Given the description of an element on the screen output the (x, y) to click on. 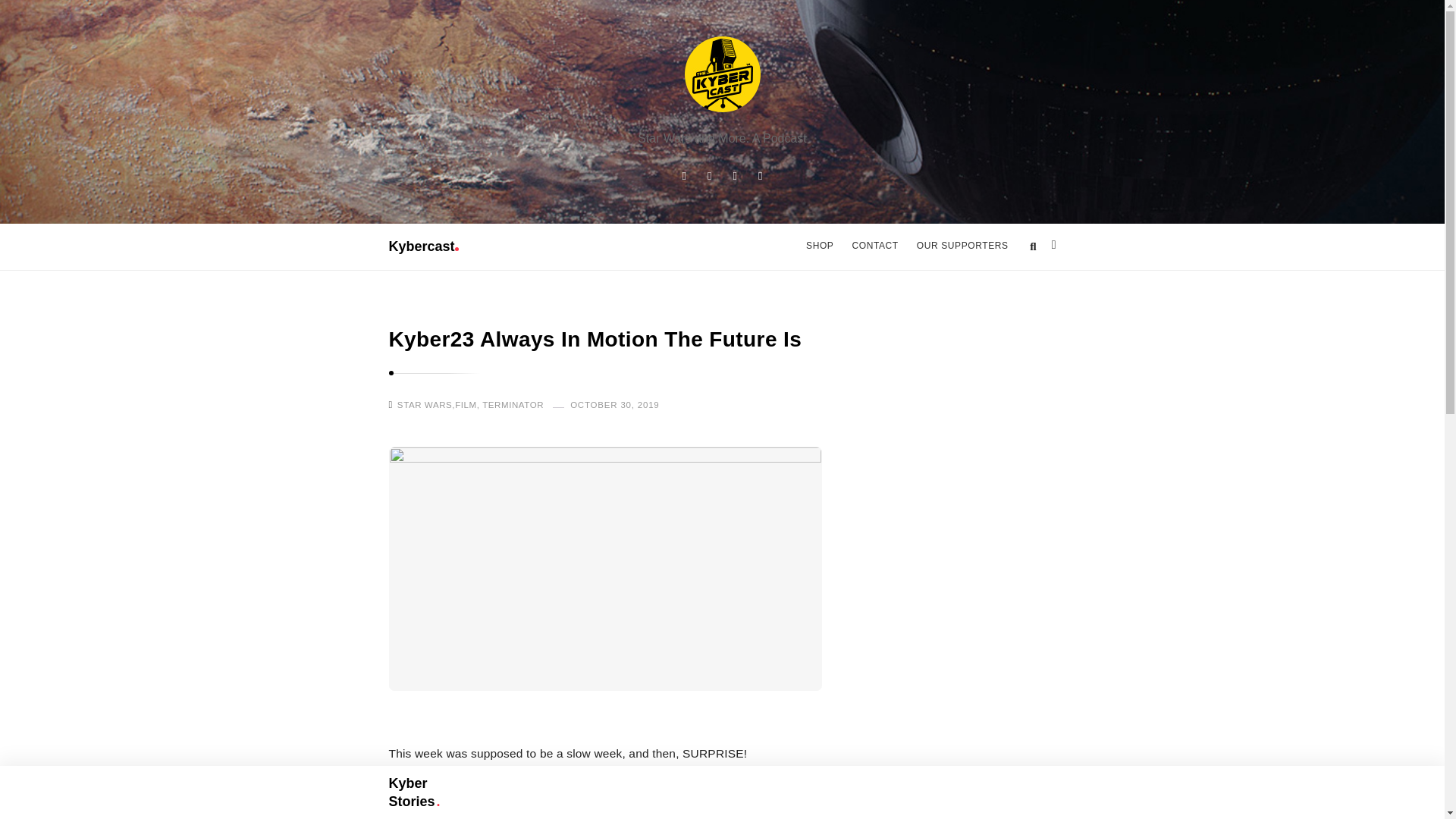
TERMINATOR (512, 405)
Search (32, 13)
STAR WARS (424, 405)
CONTACT (875, 246)
OUR SUPPORTERS (962, 246)
FILM (465, 405)
Kybercast (722, 74)
SHOP (819, 246)
OCTOBER 30, 2019 (610, 403)
Kybercast (423, 246)
